Given the description of an element on the screen output the (x, y) to click on. 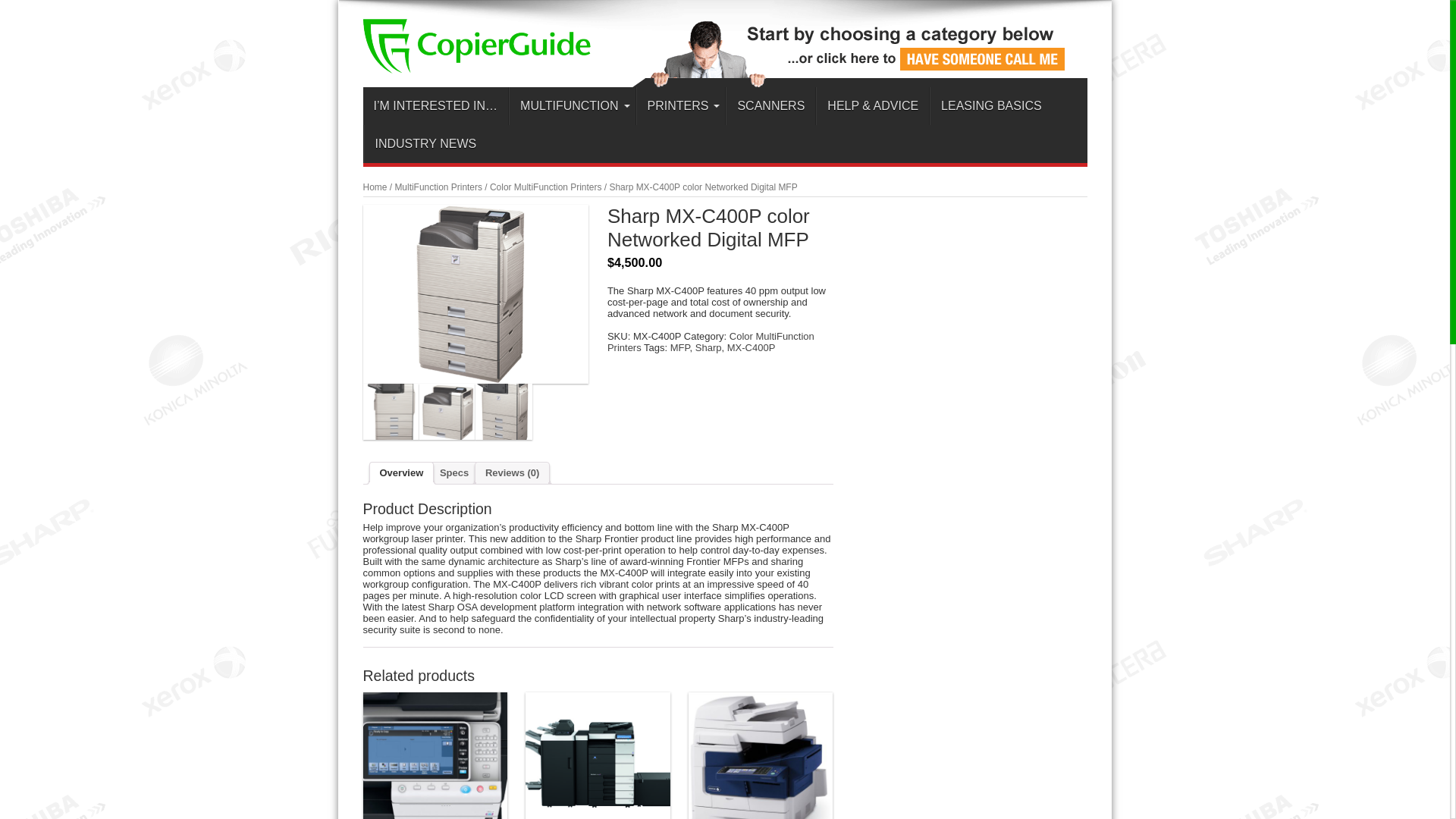
Overview (400, 473)
Sharp (708, 347)
Specs (453, 473)
MultiFunction Printers (437, 186)
MX-C400P (751, 347)
PRINTERS (680, 105)
CopierGuide (475, 62)
INDUSTRY NEWS (425, 143)
Home (374, 186)
MULTIFUNCTION (571, 105)
MX-C400P (390, 411)
MFP (679, 347)
Color MultiFunction Printers (710, 341)
LEASING BASICS (991, 105)
Color MultiFunction Printers (545, 186)
